Given the description of an element on the screen output the (x, y) to click on. 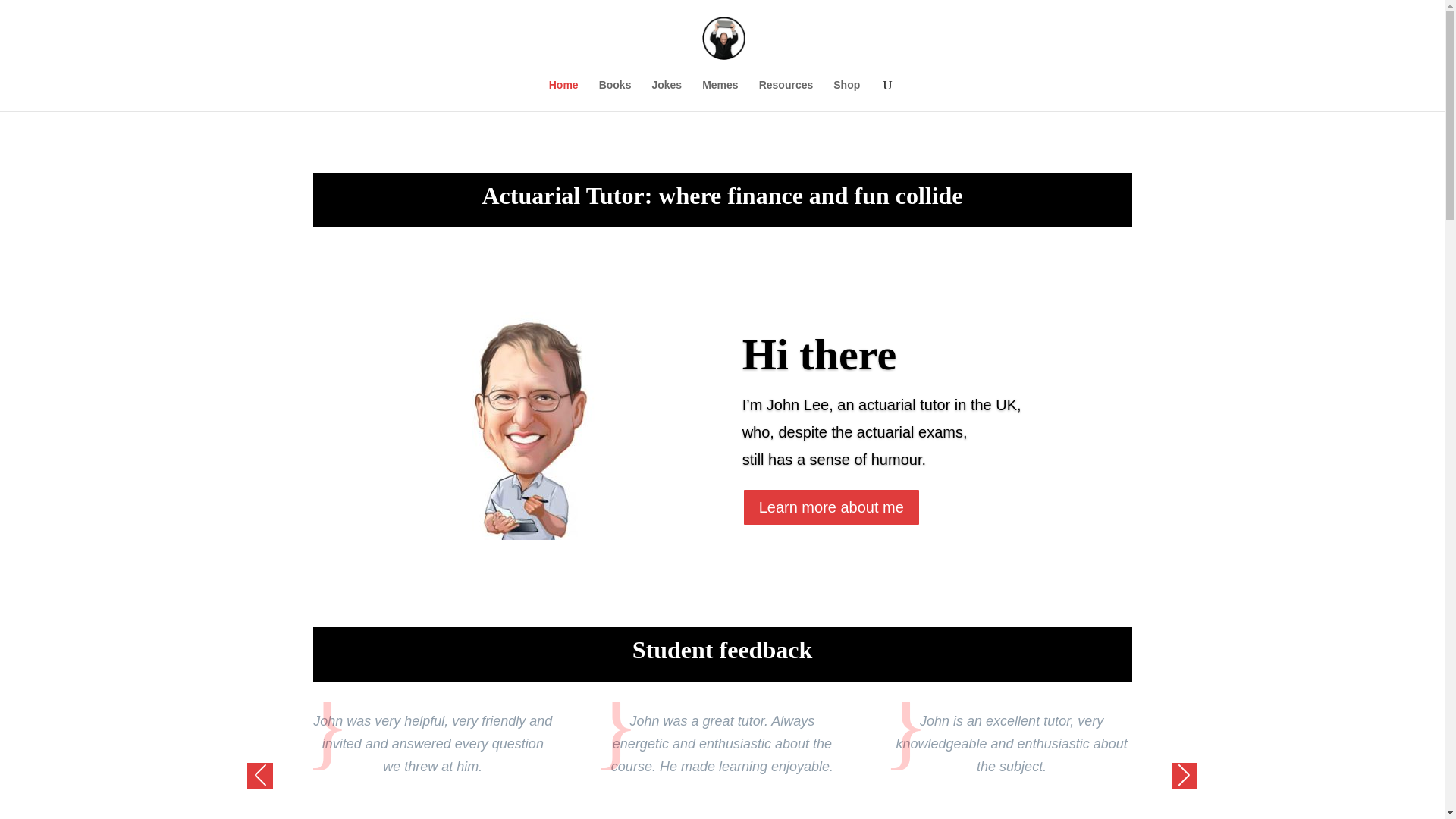
Books (614, 95)
Home (563, 95)
Jokes (665, 95)
Memes (719, 95)
Resources (785, 95)
